Given the description of an element on the screen output the (x, y) to click on. 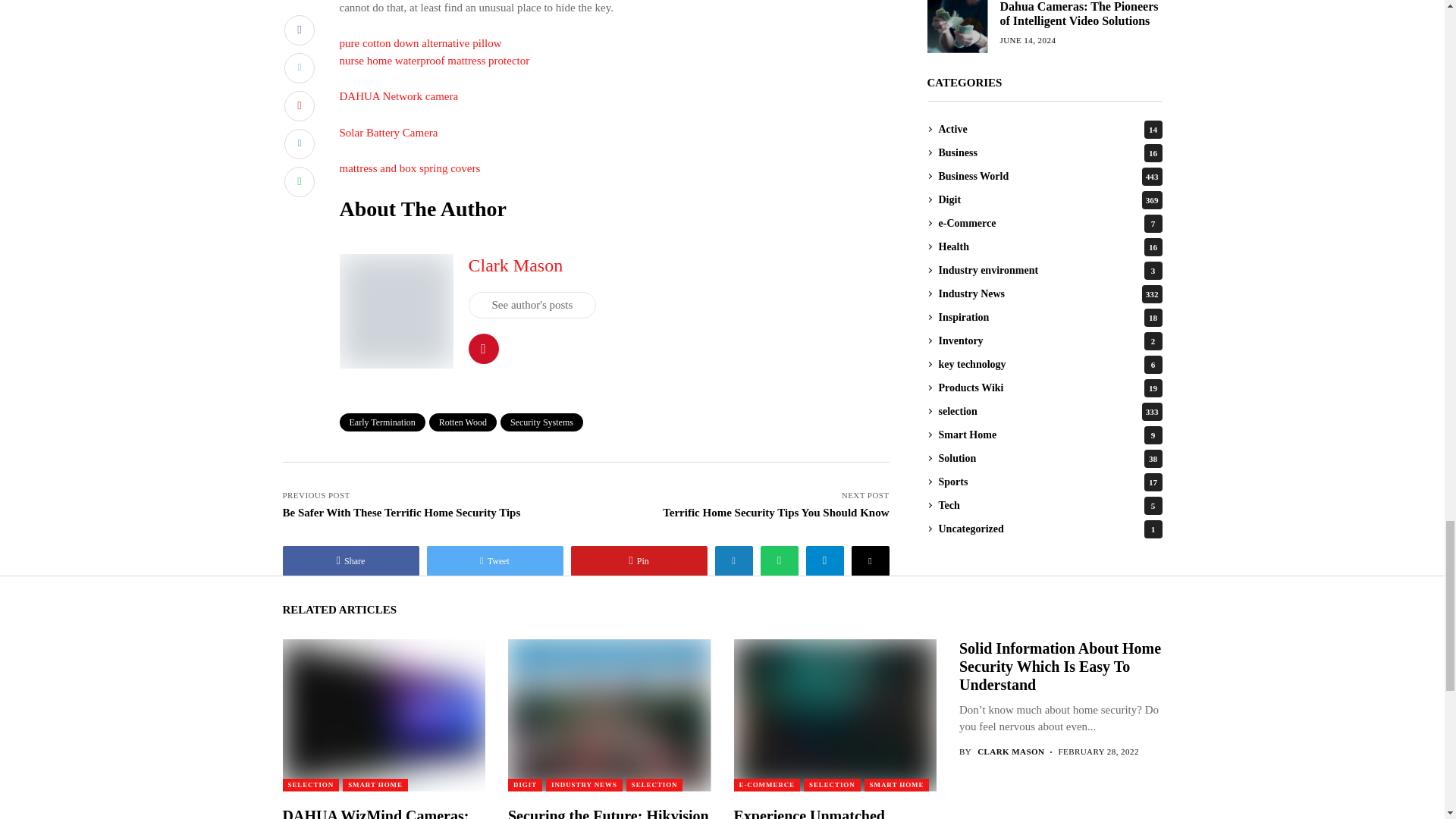
DAHUA WizMind Cameras: The Future of Secure Living Today (382, 714)
DAHUA Network camera (398, 96)
pure cotton down alternative pillow (420, 42)
nurse home waterproof mattress protector (434, 60)
